Given the description of an element on the screen output the (x, y) to click on. 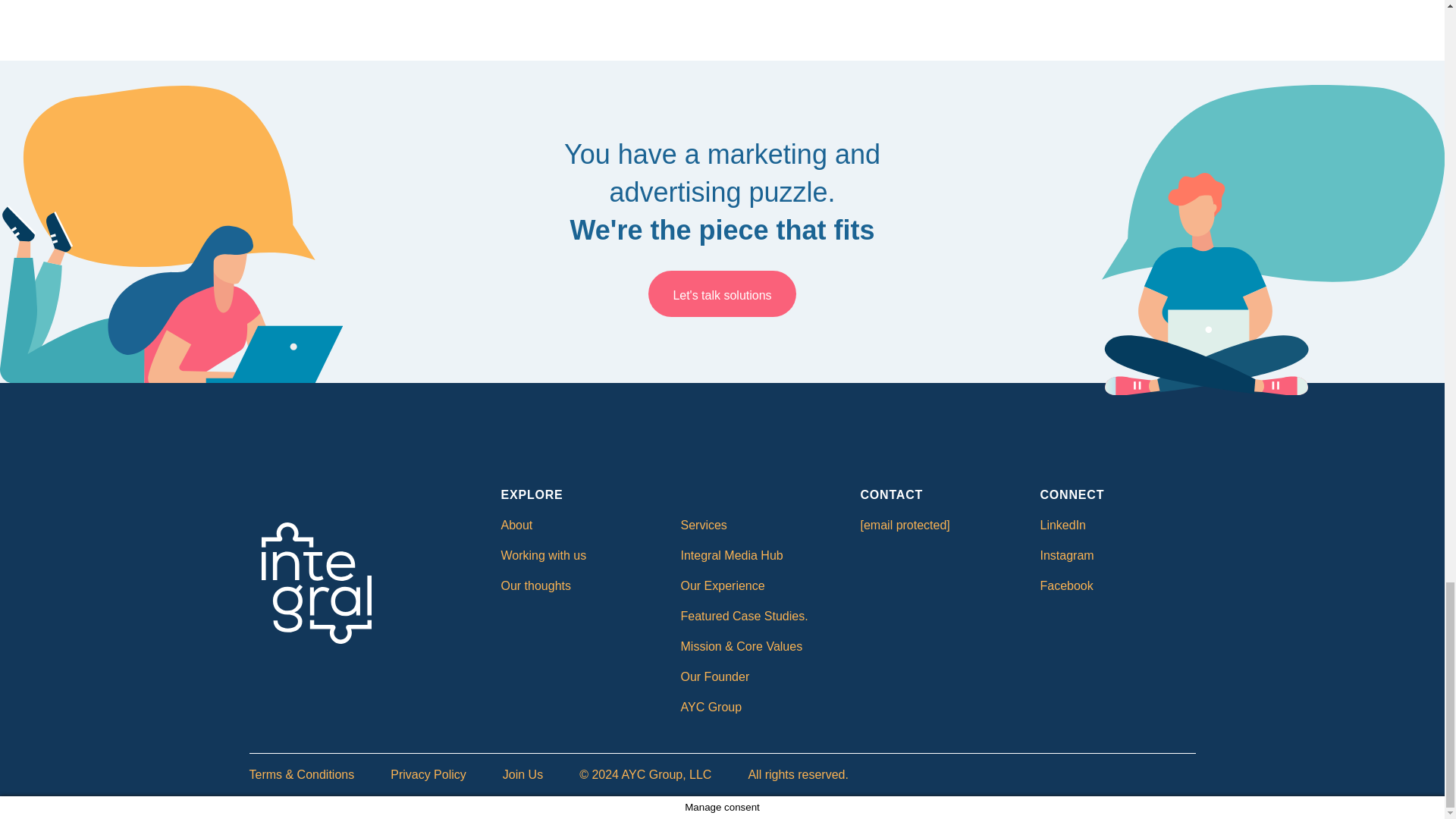
LinkedIn (1063, 524)
Our Founder (715, 676)
LinkedIn (1063, 524)
About (516, 524)
Featured Case Studies. (744, 615)
Privacy Policy (427, 774)
Join Us (522, 774)
Let's talk solutions (721, 295)
Instagram (1067, 554)
Our Experience (723, 585)
